Given the description of an element on the screen output the (x, y) to click on. 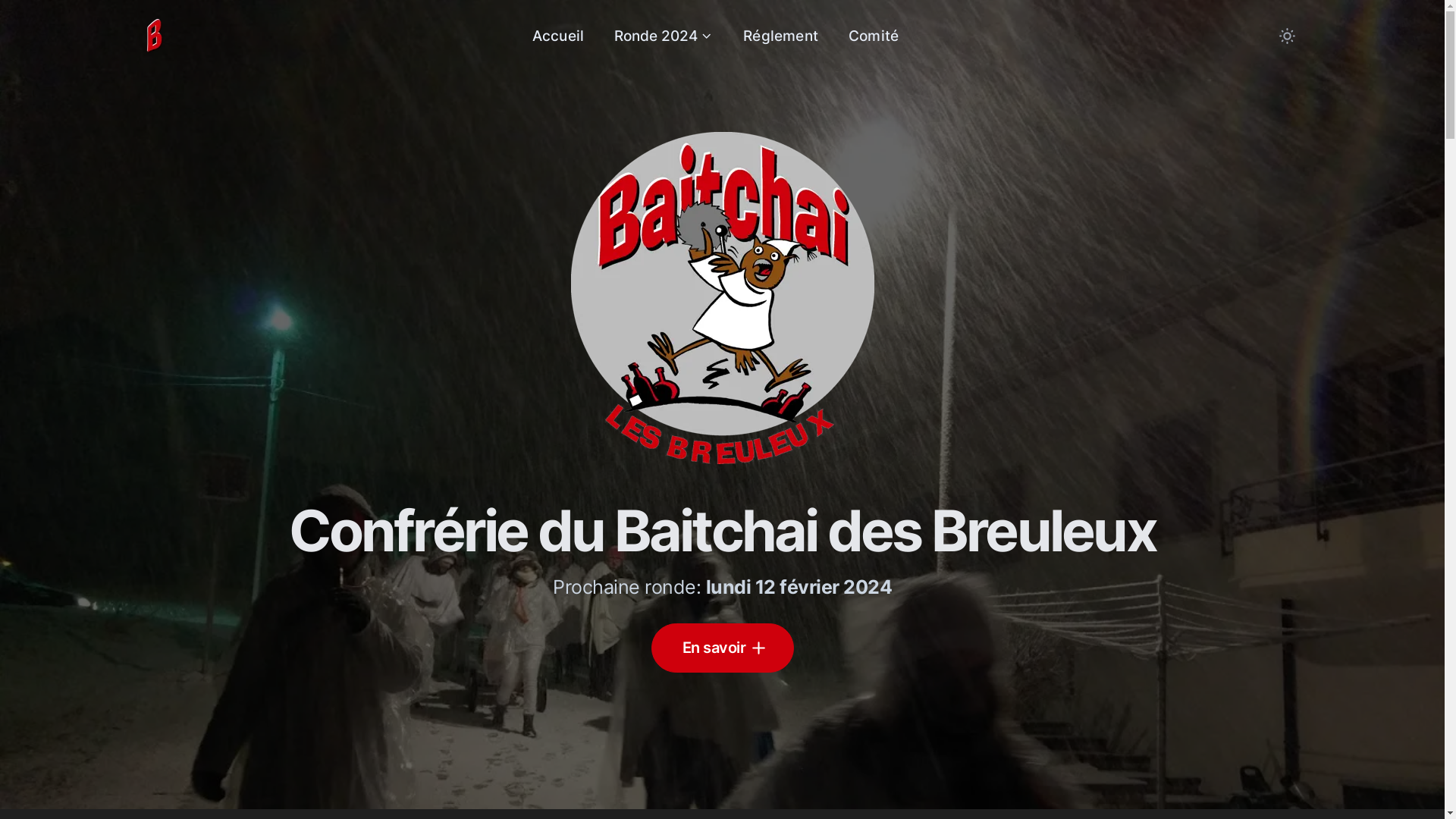
En savoir Element type: text (721, 647)
Ronde 2024 Element type: text (663, 35)
Accueil Element type: text (558, 35)
